Given the description of an element on the screen output the (x, y) to click on. 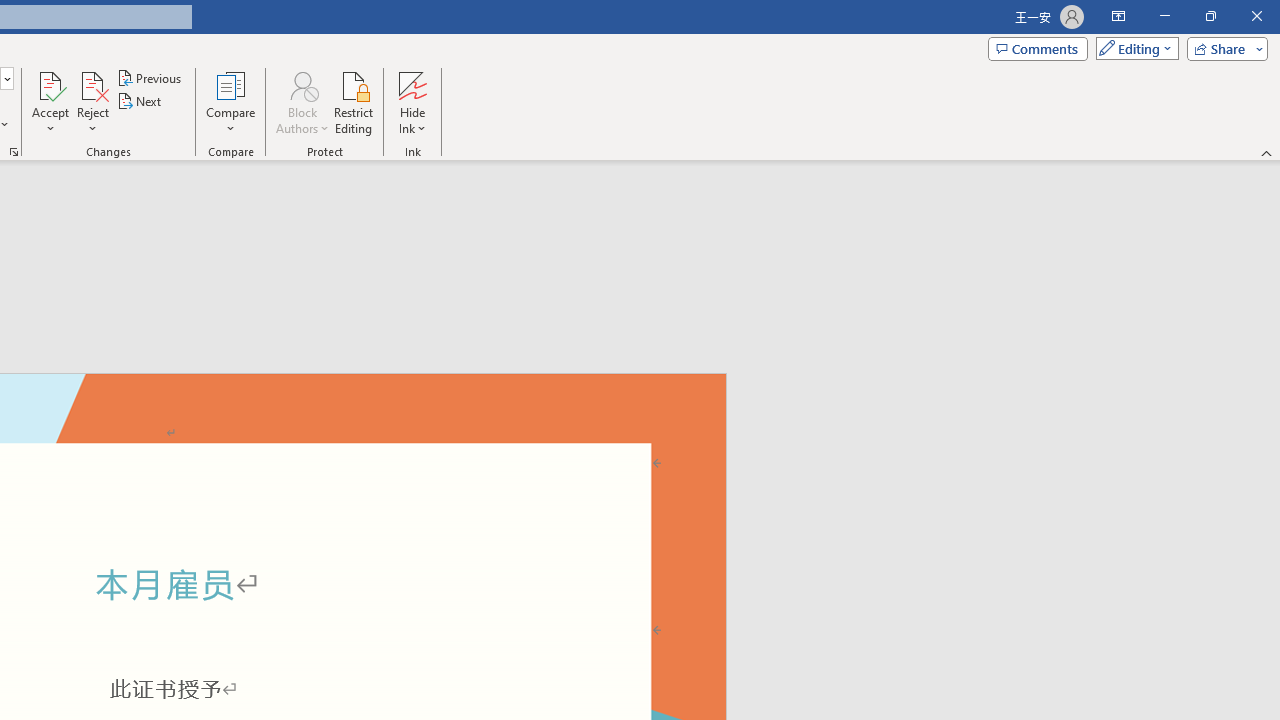
Previous (150, 78)
Change Tracking Options... (13, 151)
Block Authors (302, 84)
Restrict Editing (353, 102)
Next (140, 101)
